Given the description of an element on the screen output the (x, y) to click on. 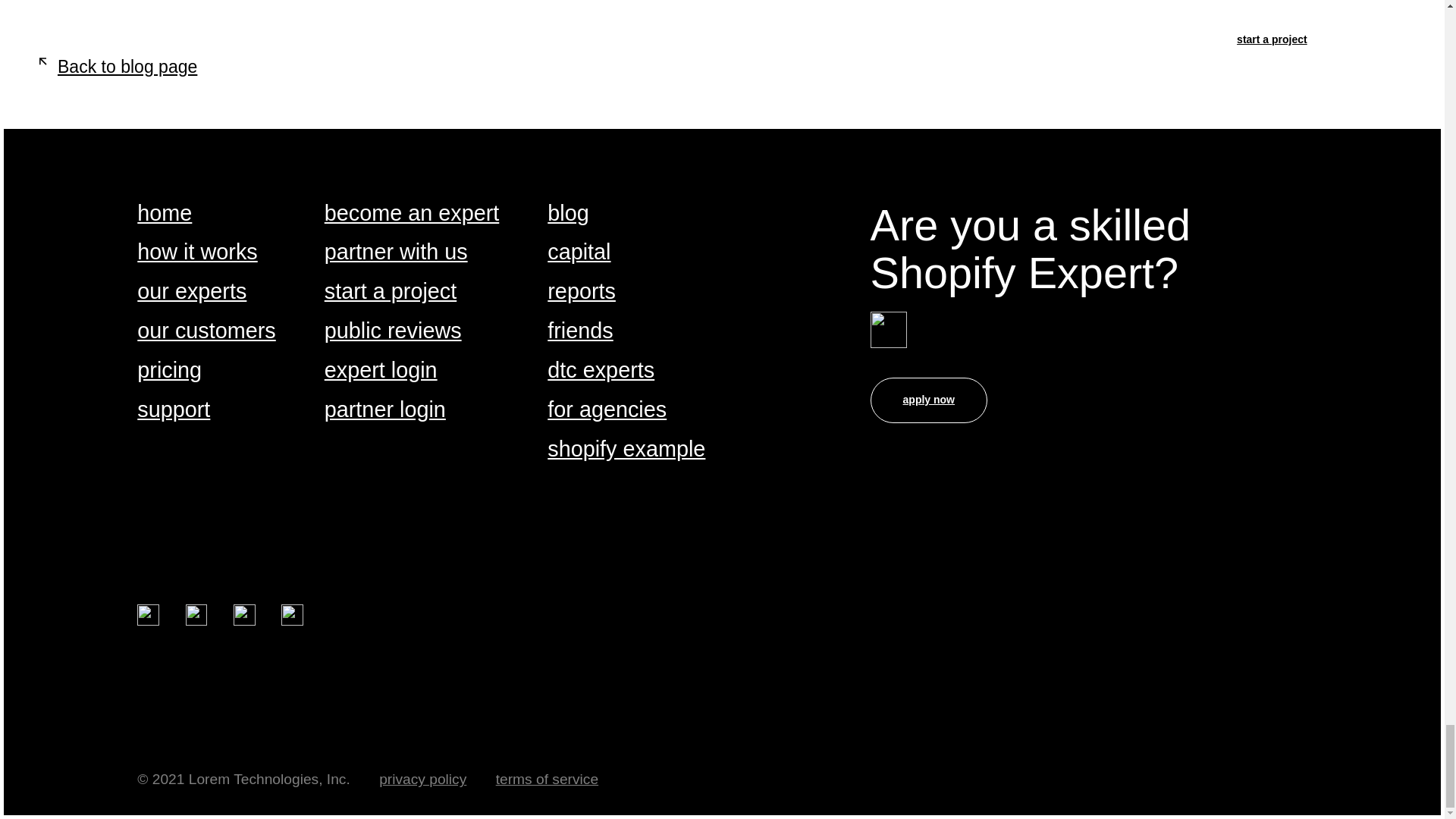
expert login (381, 371)
our experts (191, 292)
how it works (196, 252)
our customers (205, 331)
blog (567, 213)
home (164, 213)
pricing (169, 371)
start a project (390, 292)
become an expert (411, 213)
reports (581, 292)
public reviews (392, 331)
partner with us (395, 252)
support (172, 410)
capital (578, 252)
dtc experts (600, 371)
